Given the description of an element on the screen output the (x, y) to click on. 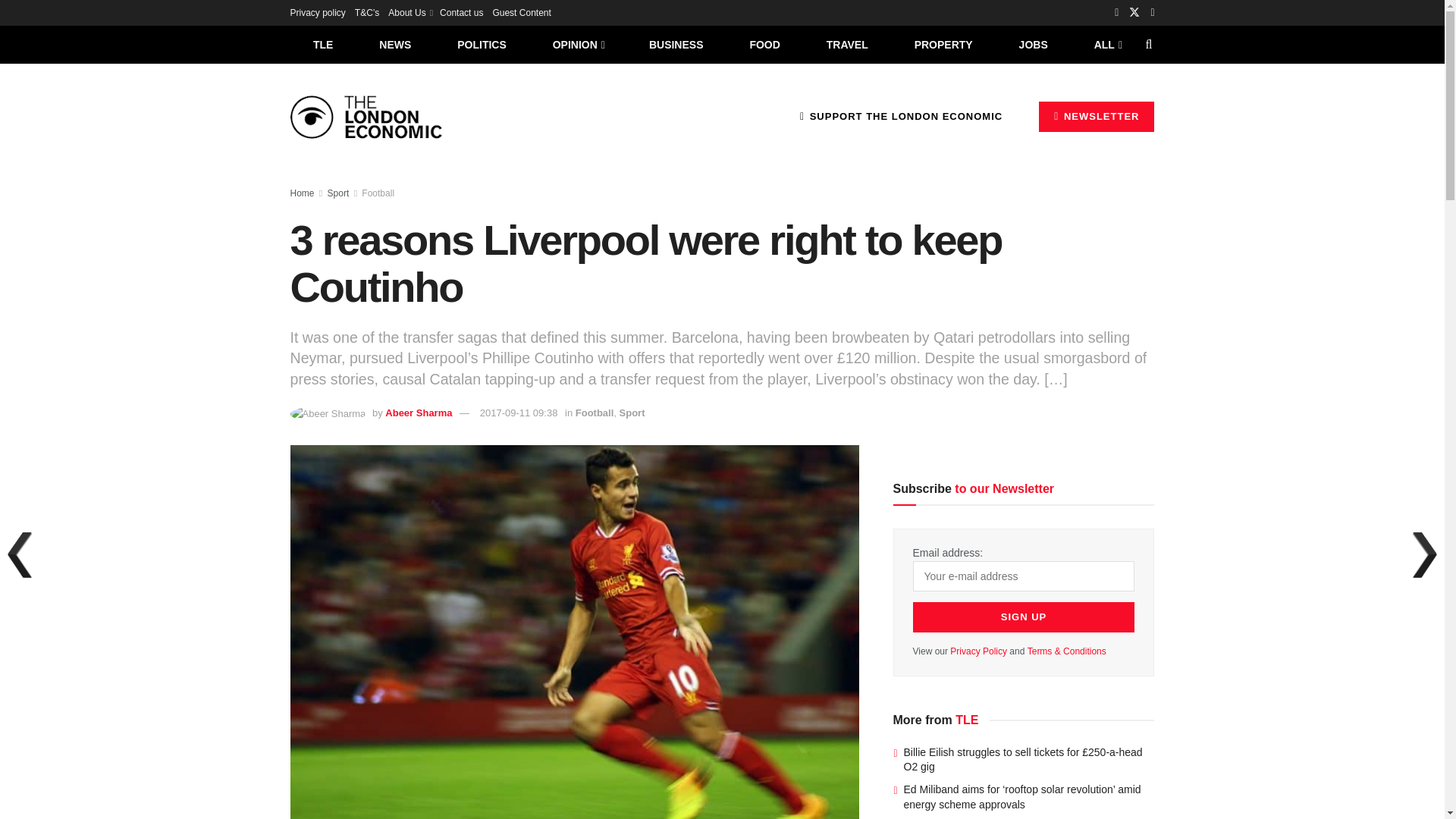
JOBS (1032, 44)
BUSINESS (676, 44)
PROPERTY (943, 44)
POLITICS (481, 44)
OPINION (577, 44)
Guest Content (521, 12)
Sign up (1023, 616)
NEWSLETTER (1096, 116)
Home (301, 193)
TLE (322, 44)
SUPPORT THE LONDON ECONOMIC (900, 116)
Privacy policy (317, 12)
Contact us (461, 12)
TRAVEL (847, 44)
FOOD (764, 44)
